Given the description of an element on the screen output the (x, y) to click on. 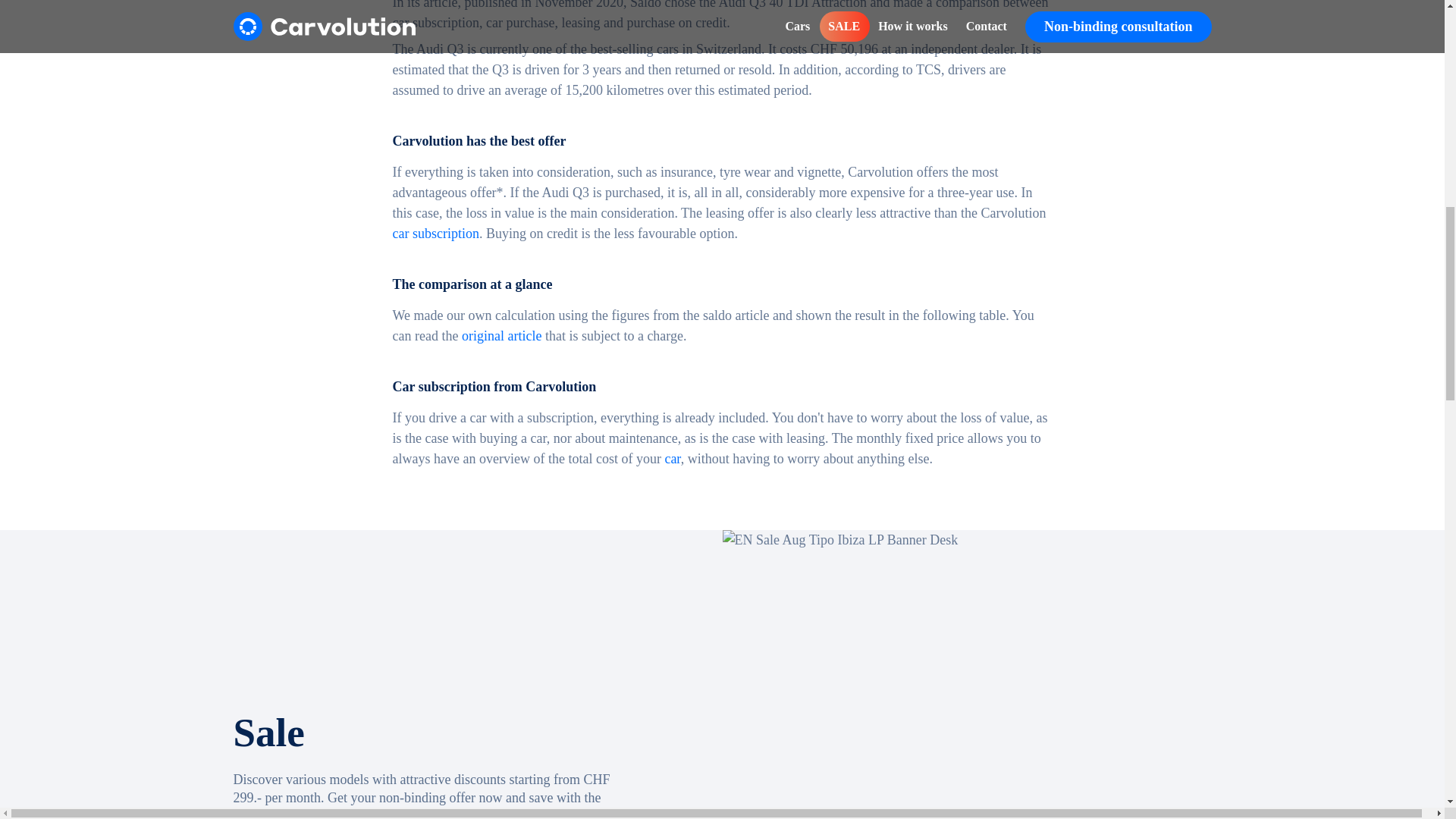
car subscription (436, 233)
original article (501, 335)
car (671, 458)
